Given the description of an element on the screen output the (x, y) to click on. 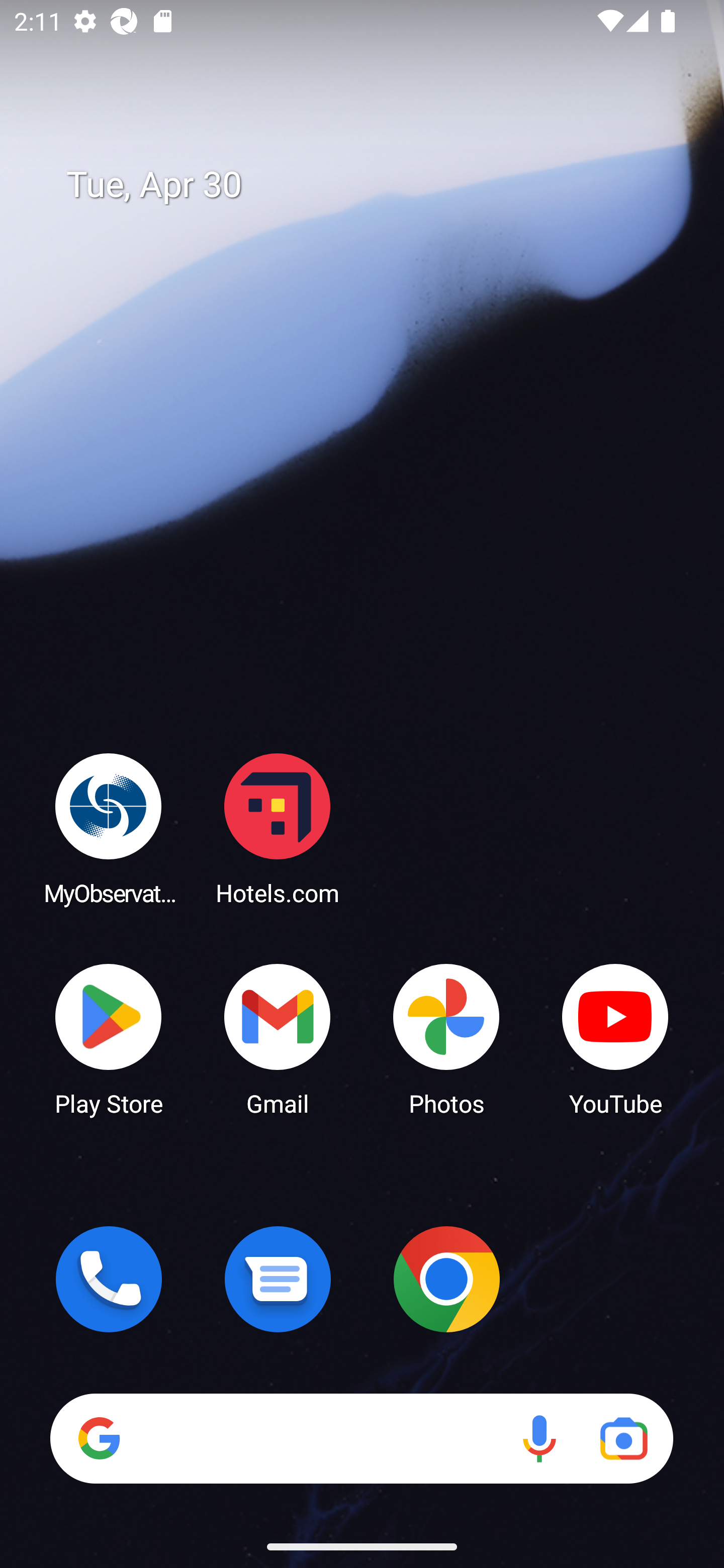
Tue, Apr 30 (375, 184)
MyObservatory (108, 828)
Hotels.com (277, 828)
Play Store (108, 1038)
Gmail (277, 1038)
Photos (445, 1038)
YouTube (615, 1038)
Phone (108, 1279)
Messages (277, 1279)
Chrome (446, 1279)
Voice search (539, 1438)
Google Lens (623, 1438)
